Given the description of an element on the screen output the (x, y) to click on. 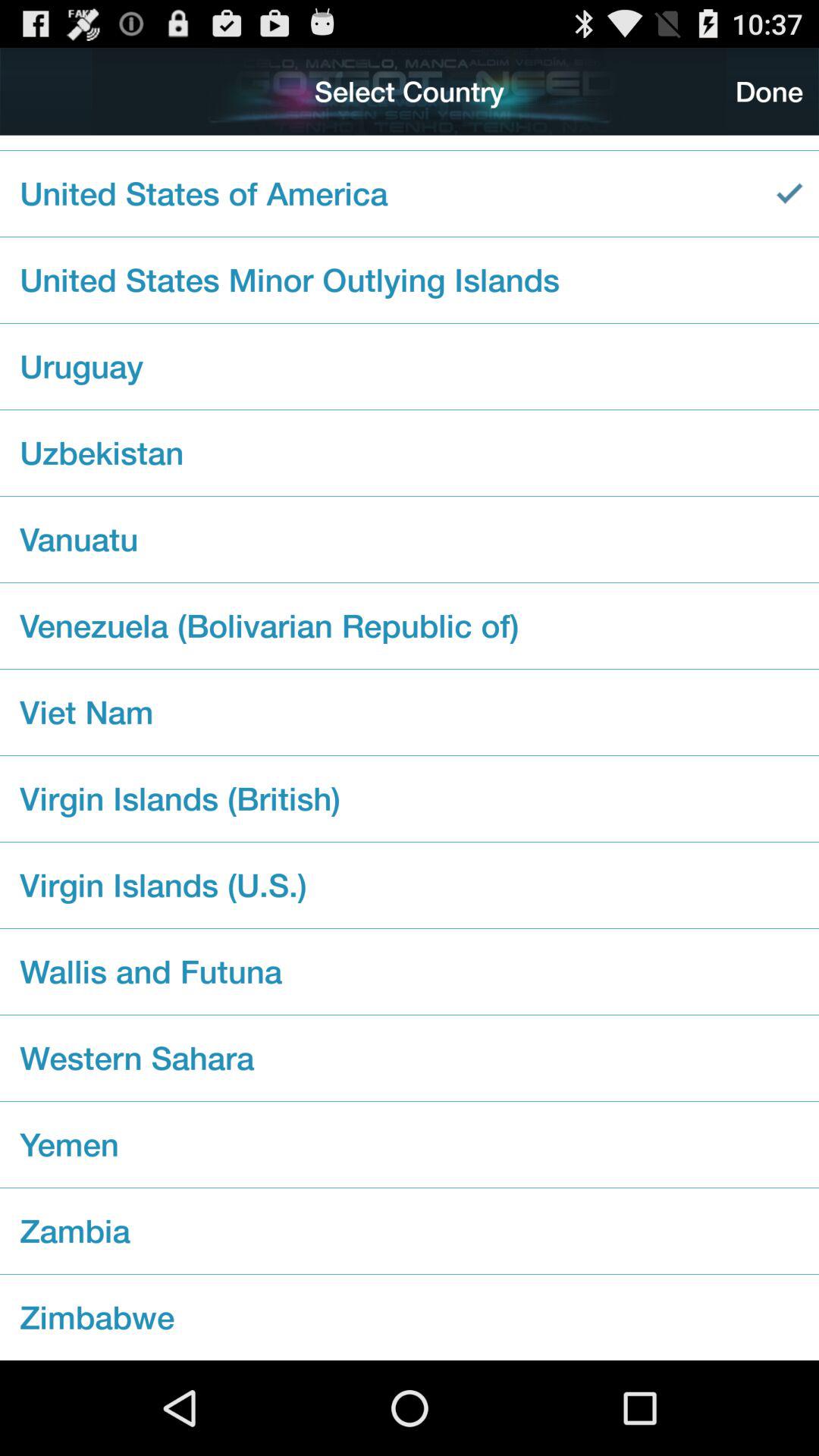
flip to zambia item (409, 1231)
